Given the description of an element on the screen output the (x, y) to click on. 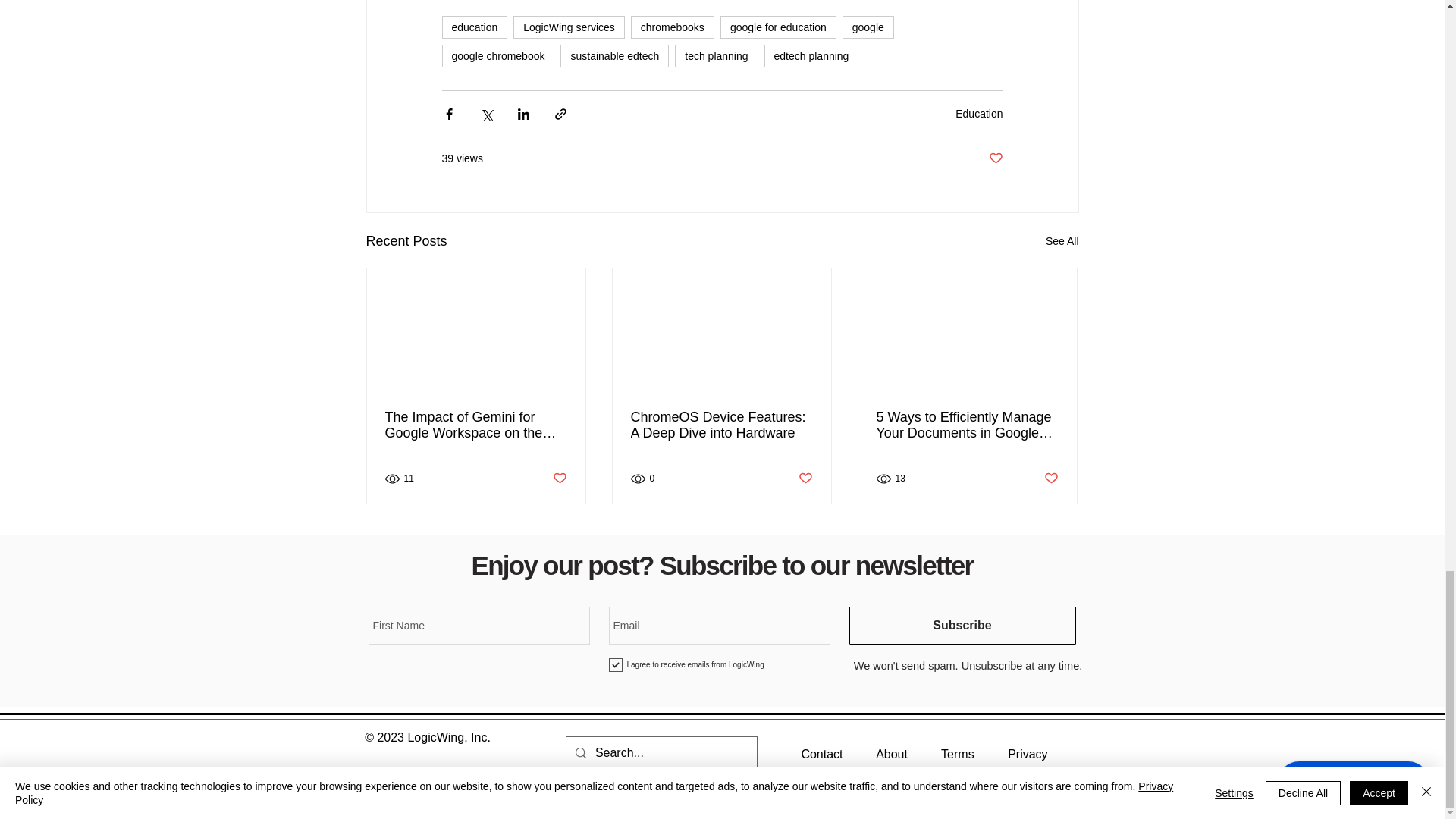
chromebooks (672, 26)
Post not marked as liked (995, 158)
tech planning (716, 56)
Post not marked as liked (804, 478)
google chromebook (497, 56)
Education (979, 113)
sustainable edtech (614, 56)
ChromeOS Device Features: A Deep Dive into Hardware (721, 425)
google (868, 26)
Post not marked as liked (558, 478)
education (473, 26)
google for education (777, 26)
See All (1061, 241)
